Given the description of an element on the screen output the (x, y) to click on. 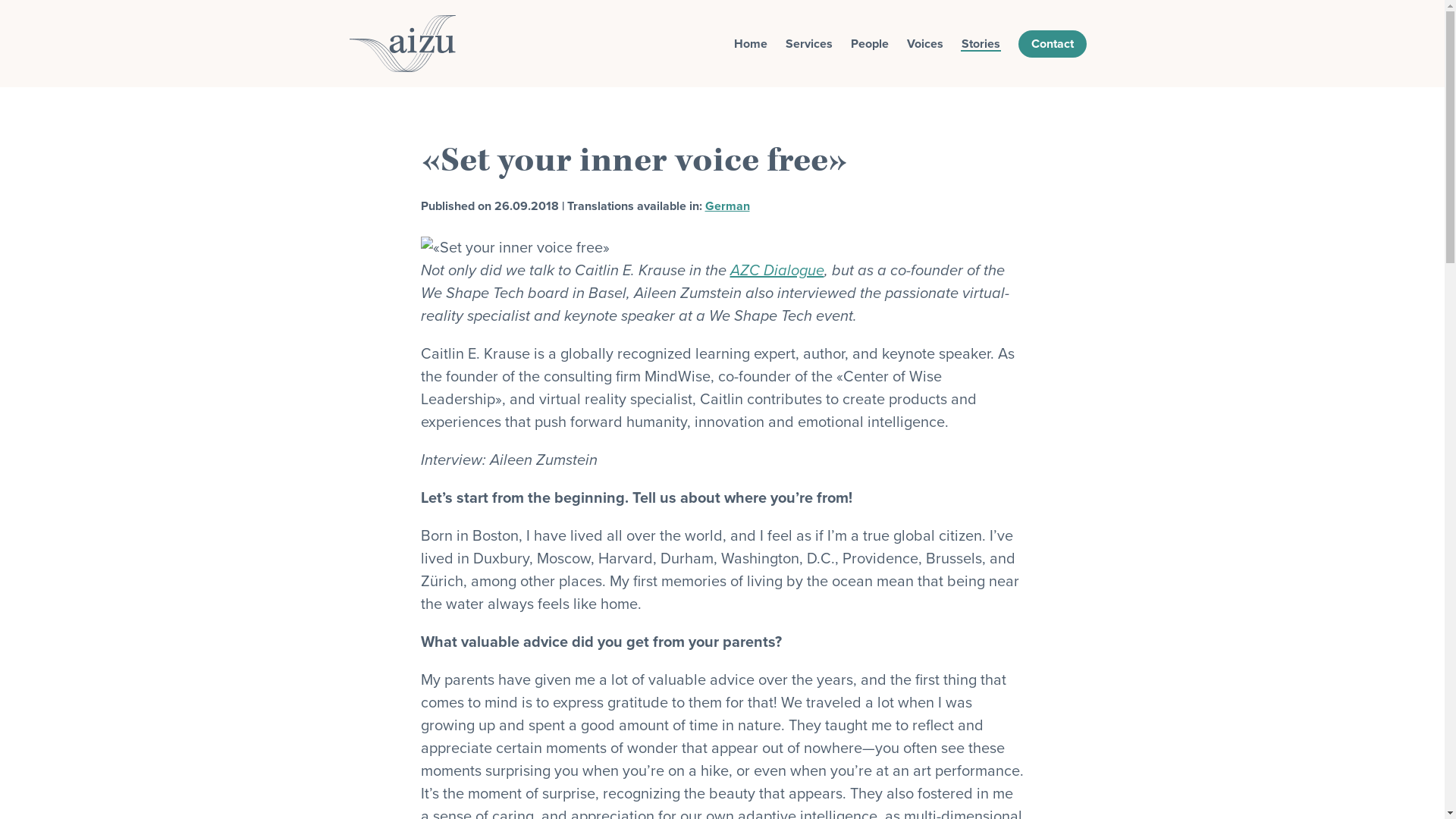
People Element type: text (869, 43)
AZC Dialogue Element type: text (776, 270)
Contact Element type: text (1051, 43)
Services Element type: text (808, 43)
Voices Element type: text (924, 43)
German Element type: text (727, 205)
Stories Element type: text (980, 43)
Home Element type: text (750, 43)
